Given the description of an element on the screen output the (x, y) to click on. 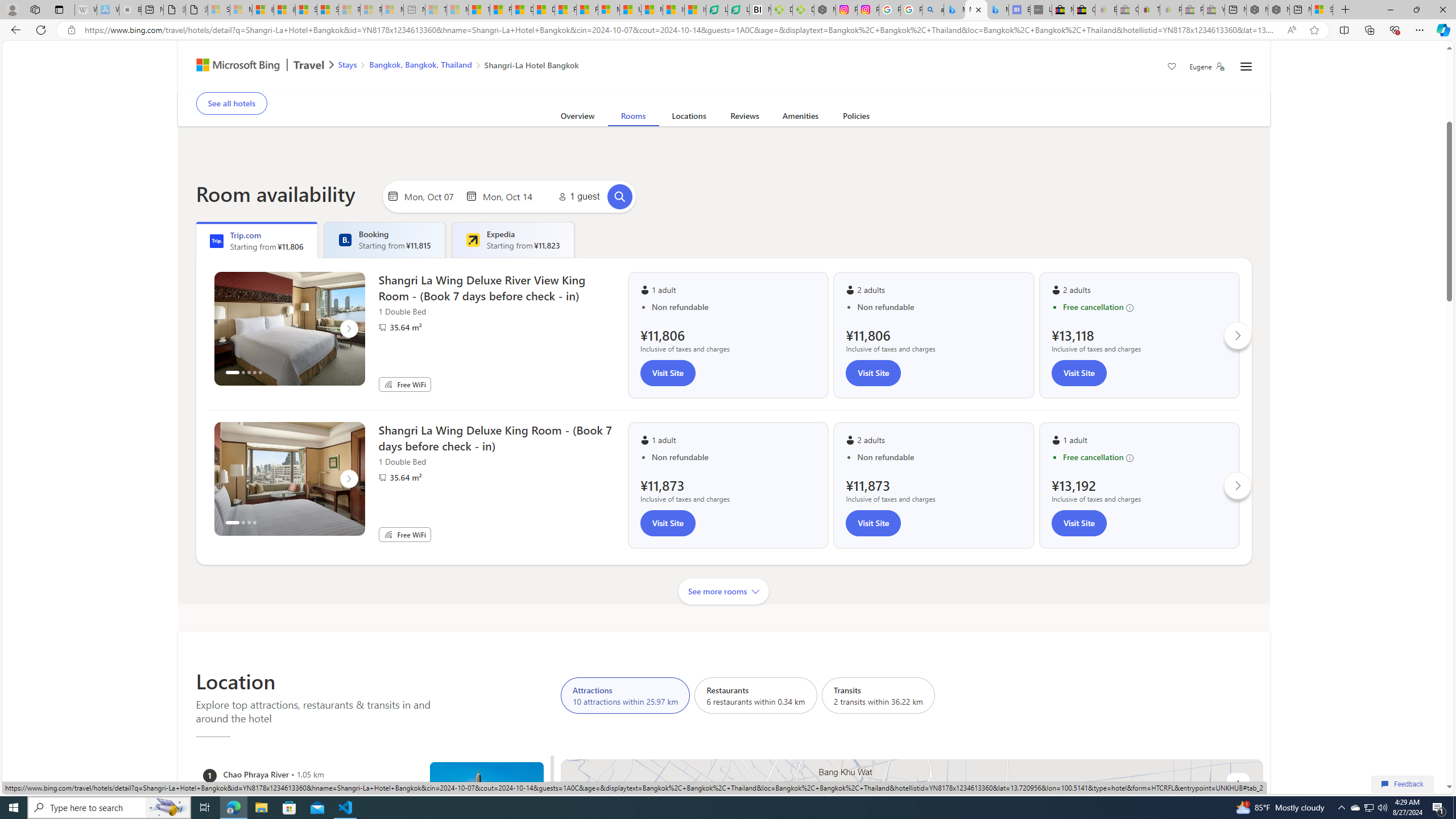
Sign in to your Microsoft account - Sleeping (218, 9)
Microsoft Bing Travel - Flights from Hong Kong to Bangkok (954, 9)
Valet parking (574, 84)
Bangkok, Bangkok, Thailand (420, 64)
End date (510, 196)
Class: trvl-hub-header stickyheader (723, 65)
Reviews (744, 118)
Nordace - Nordace Edin Collection (824, 9)
Overview (576, 118)
Press Room - eBay Inc. - Sleeping (1192, 9)
Eugene (1206, 66)
Visit Site (1078, 523)
